Given the description of an element on the screen output the (x, y) to click on. 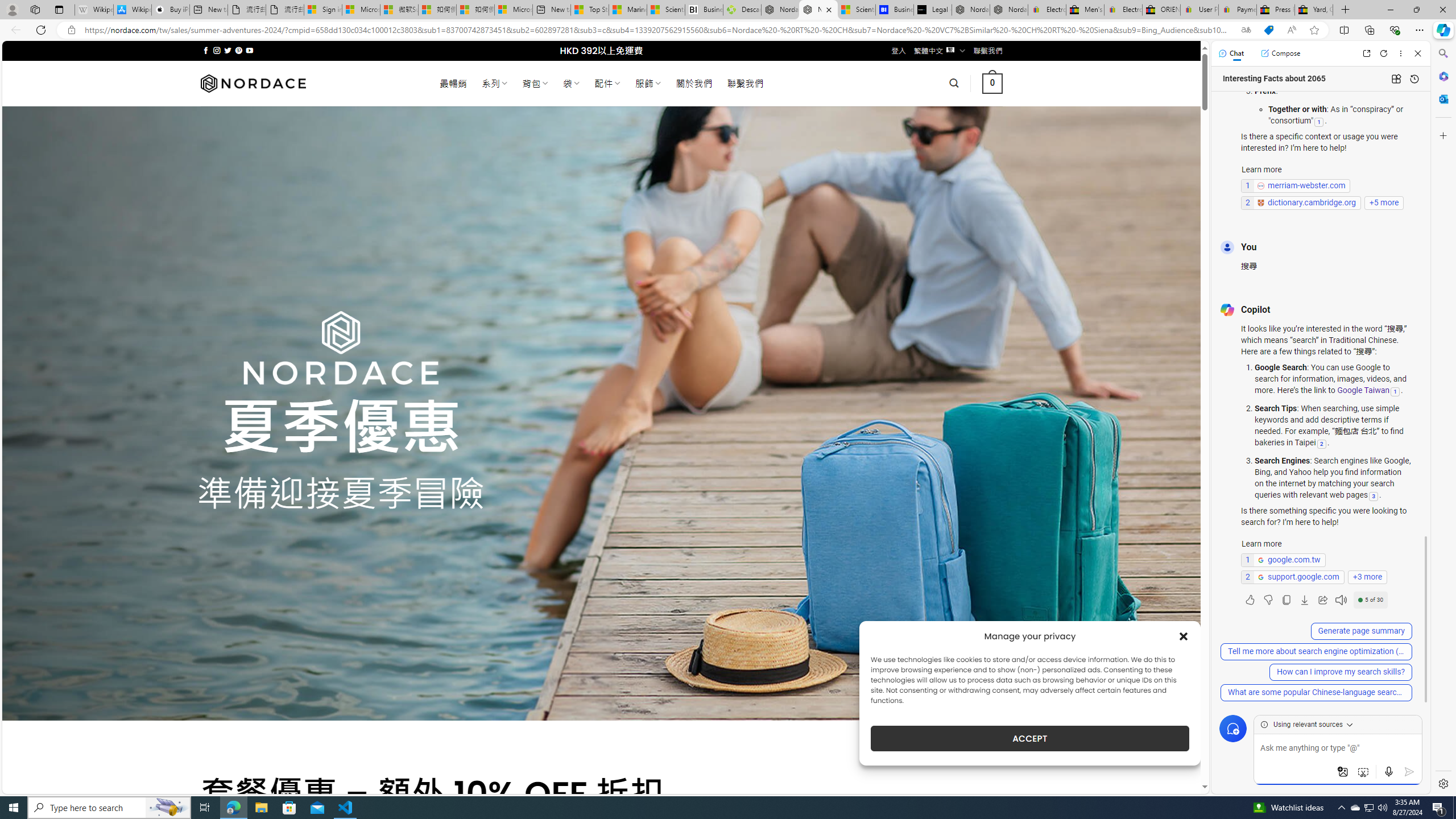
ACCEPT (1029, 738)
This site has coupons! Shopping in Microsoft Edge (1268, 29)
